Given the description of an element on the screen output the (x, y) to click on. 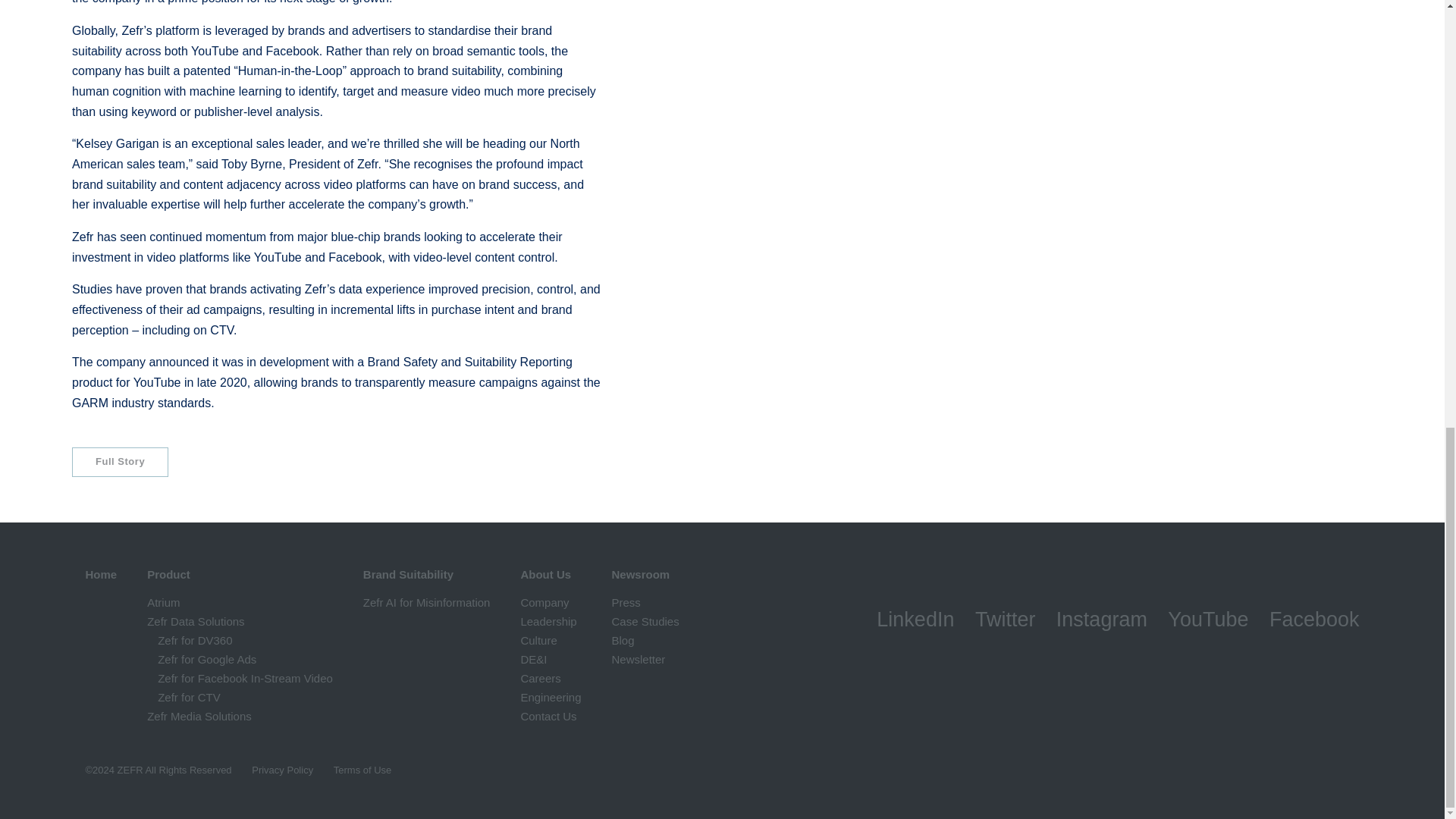
Full Story (119, 461)
Zefr for Google Ads (206, 658)
Home (100, 574)
Zefr Data Solutions (195, 621)
Atrium (163, 602)
Product (168, 574)
Zefr for DV360 (194, 640)
